Given the description of an element on the screen output the (x, y) to click on. 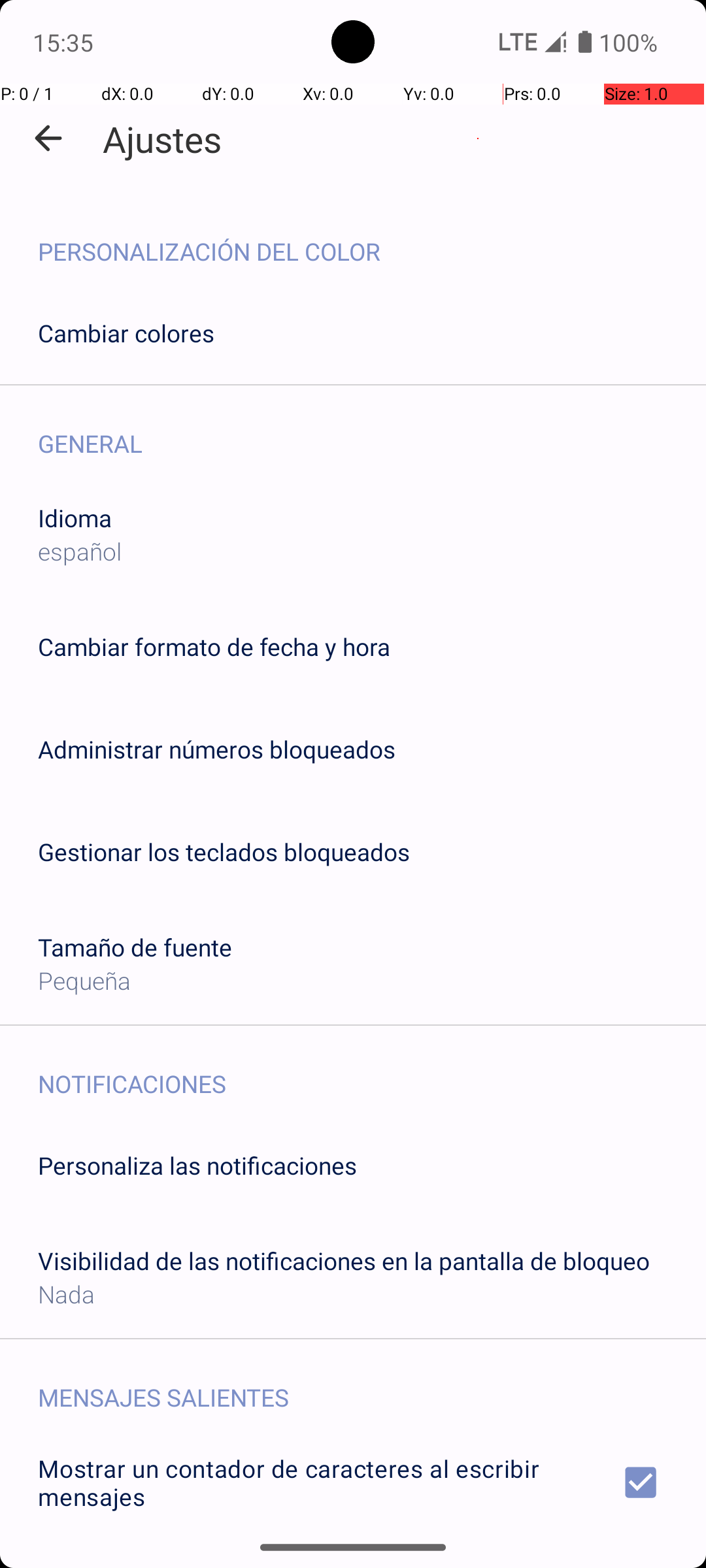
NOTIFICACIONES Element type: android.widget.TextView (371, 1069)
MENSAJES SALIENTES Element type: android.widget.TextView (371, 1383)
Cambiar formato de fecha y hora Element type: android.widget.TextView (213, 646)
Administrar números bloqueados Element type: android.widget.TextView (216, 748)
Gestionar los teclados bloqueados Element type: android.widget.TextView (223, 851)
Tamaño de fuente Element type: android.widget.TextView (134, 946)
Pequeña Element type: android.widget.TextView (83, 979)
Visibilidad de las notificaciones en la pantalla de bloqueo Element type: android.widget.TextView (343, 1260)
Nada Element type: android.widget.TextView (65, 1293)
Mostrar un contador de caracteres al escribir mensajes Element type: android.widget.CheckBox (352, 1482)
Elimina los acentos y signos diacríticos al enviar mensajes Element type: android.widget.CheckBox (352, 1559)
